Given the description of an element on the screen output the (x, y) to click on. 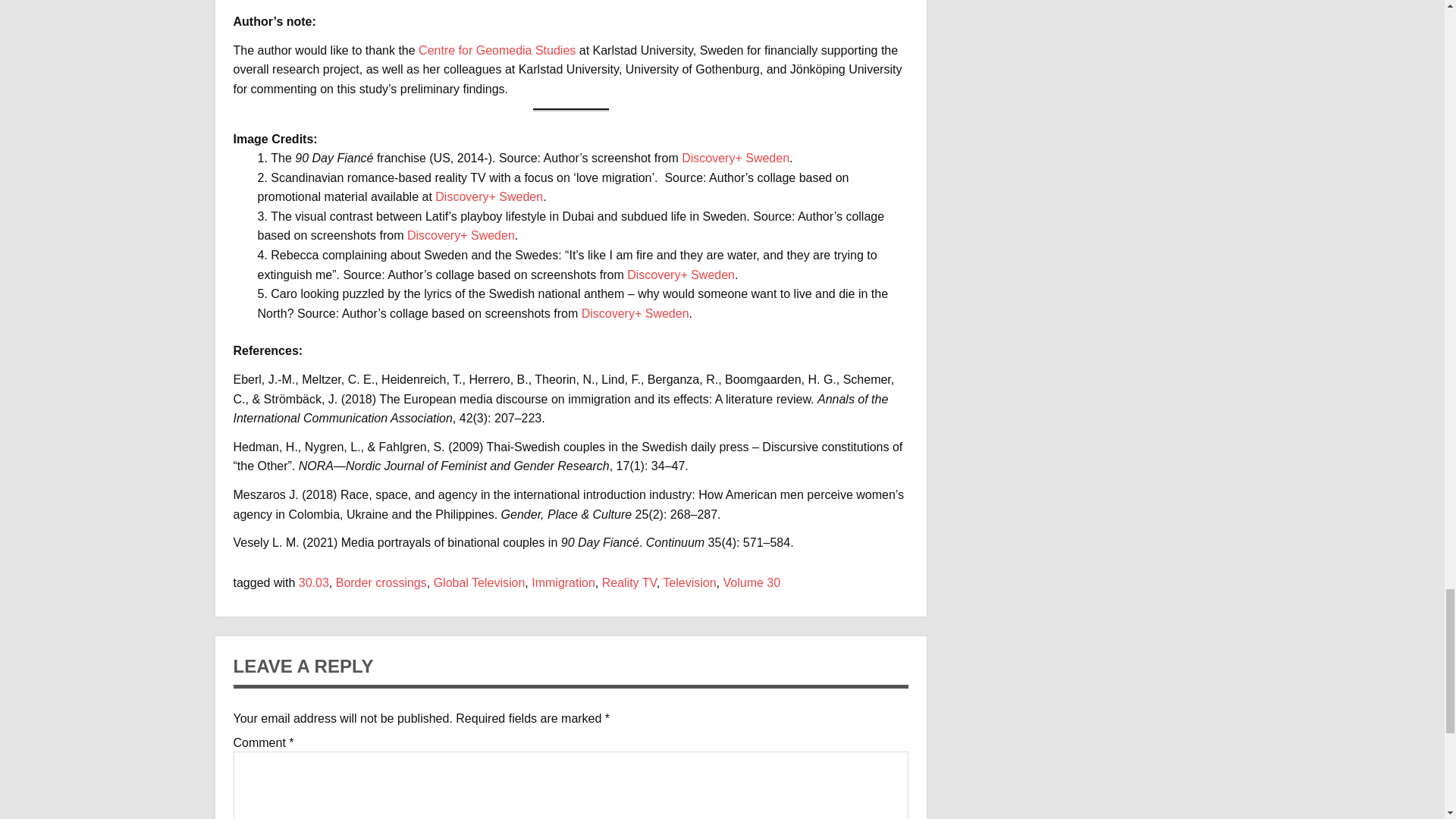
Centre for Geomedia Studies (497, 50)
Television (689, 582)
Immigration (563, 582)
Volume 30 (751, 582)
30.03 (313, 582)
Border crossings (381, 582)
Global Television (479, 582)
Reality TV (629, 582)
